Given the description of an element on the screen output the (x, y) to click on. 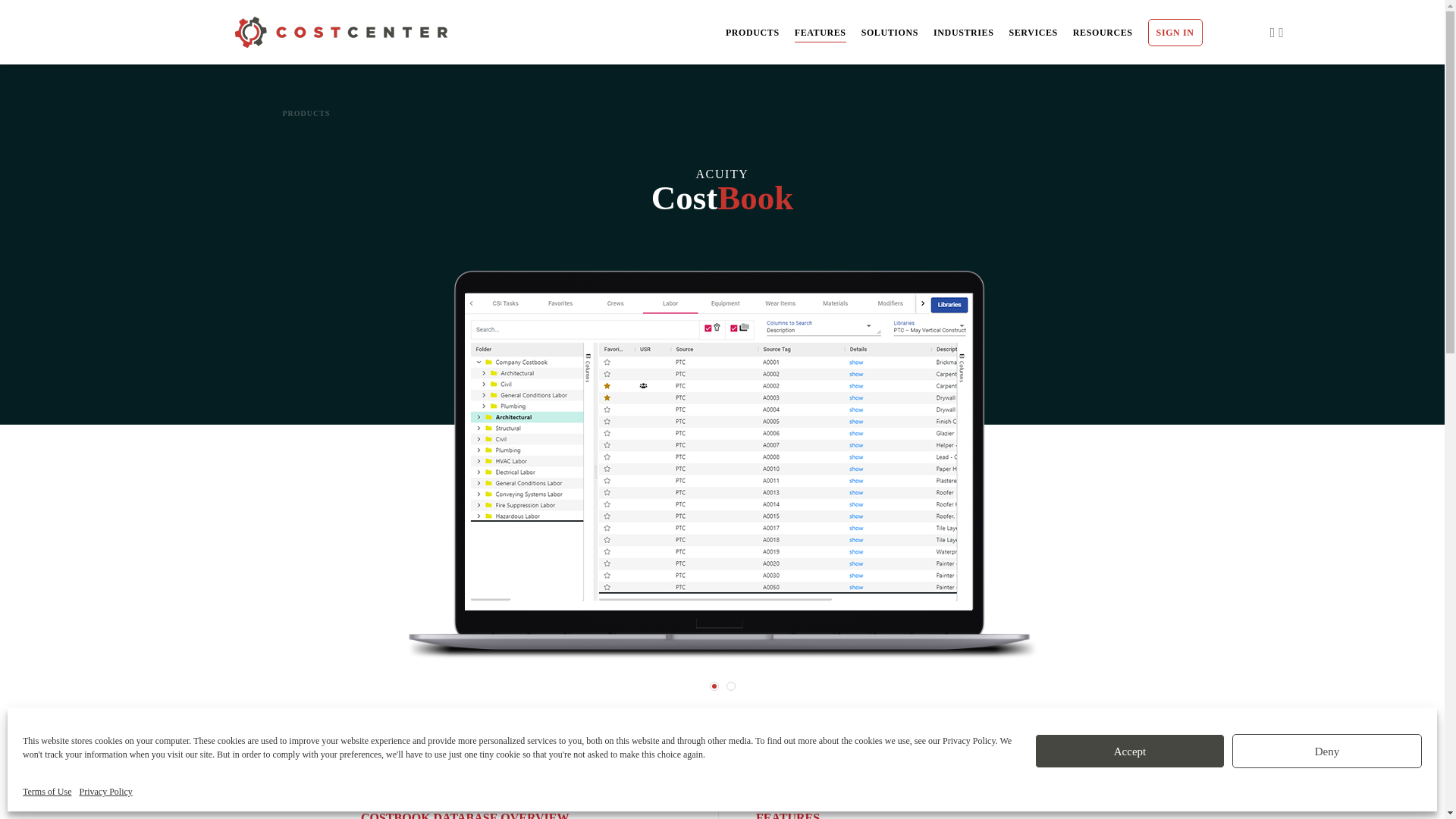
FEATURES (819, 34)
Deny (1326, 750)
SERVICES (1033, 34)
PRODUCTS (751, 34)
Accept (1129, 750)
INDUSTRIES (962, 34)
RESOURCES (1102, 34)
Terms of Use (47, 791)
Privacy Policy (105, 791)
SOLUTIONS (889, 34)
